Given the description of an element on the screen output the (x, y) to click on. 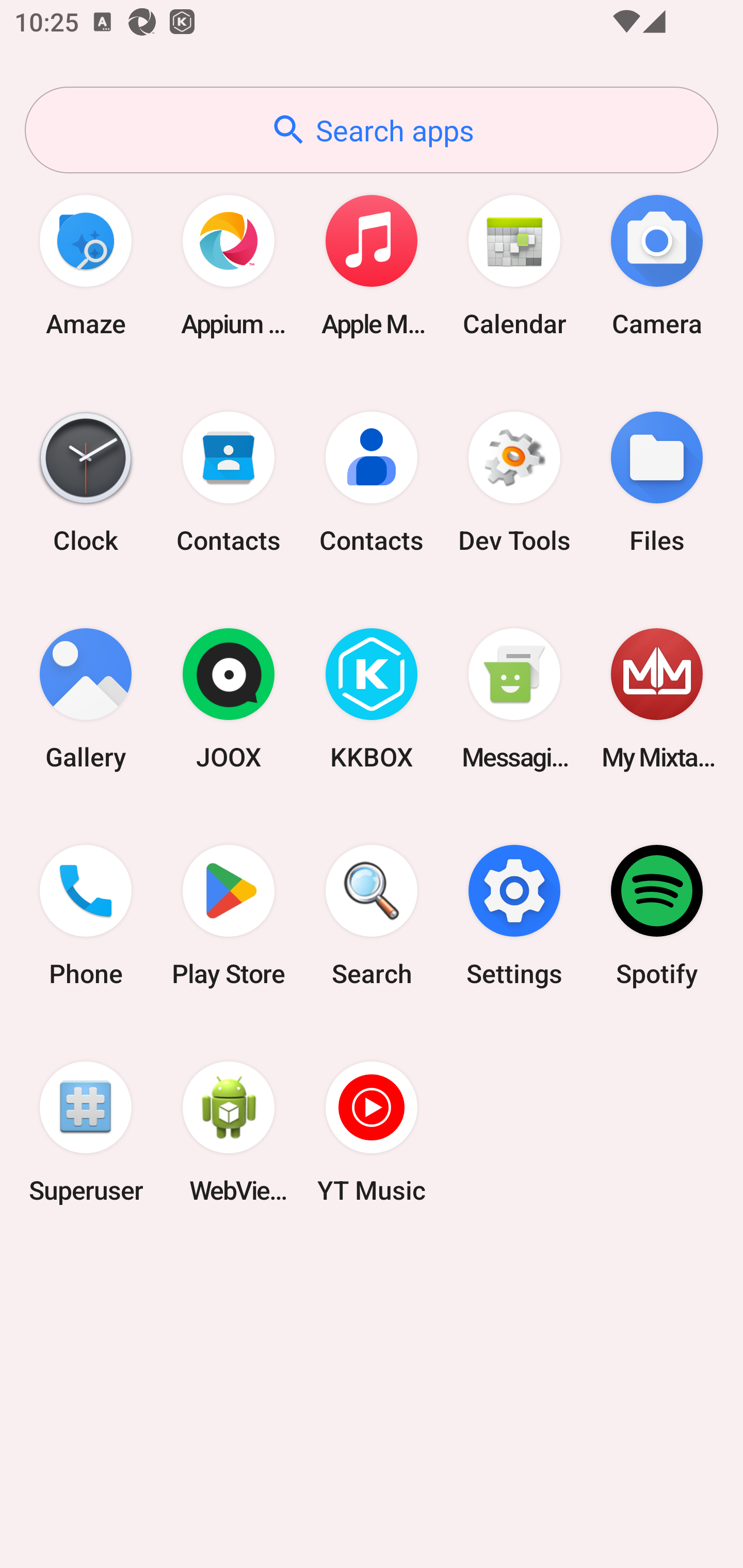
  Search apps (371, 130)
Amaze (85, 264)
Appium Settings (228, 264)
Apple Music (371, 264)
Calendar (514, 264)
Camera (656, 264)
Clock (85, 482)
Contacts (228, 482)
Contacts (371, 482)
Dev Tools (514, 482)
Files (656, 482)
Gallery (85, 699)
JOOX (228, 699)
KKBOX (371, 699)
Messaging (514, 699)
My Mixtapez (656, 699)
Phone (85, 915)
Play Store (228, 915)
Search (371, 915)
Settings (514, 915)
Spotify (656, 915)
Superuser (85, 1131)
WebView Browser Tester (228, 1131)
YT Music (371, 1131)
